Given the description of an element on the screen output the (x, y) to click on. 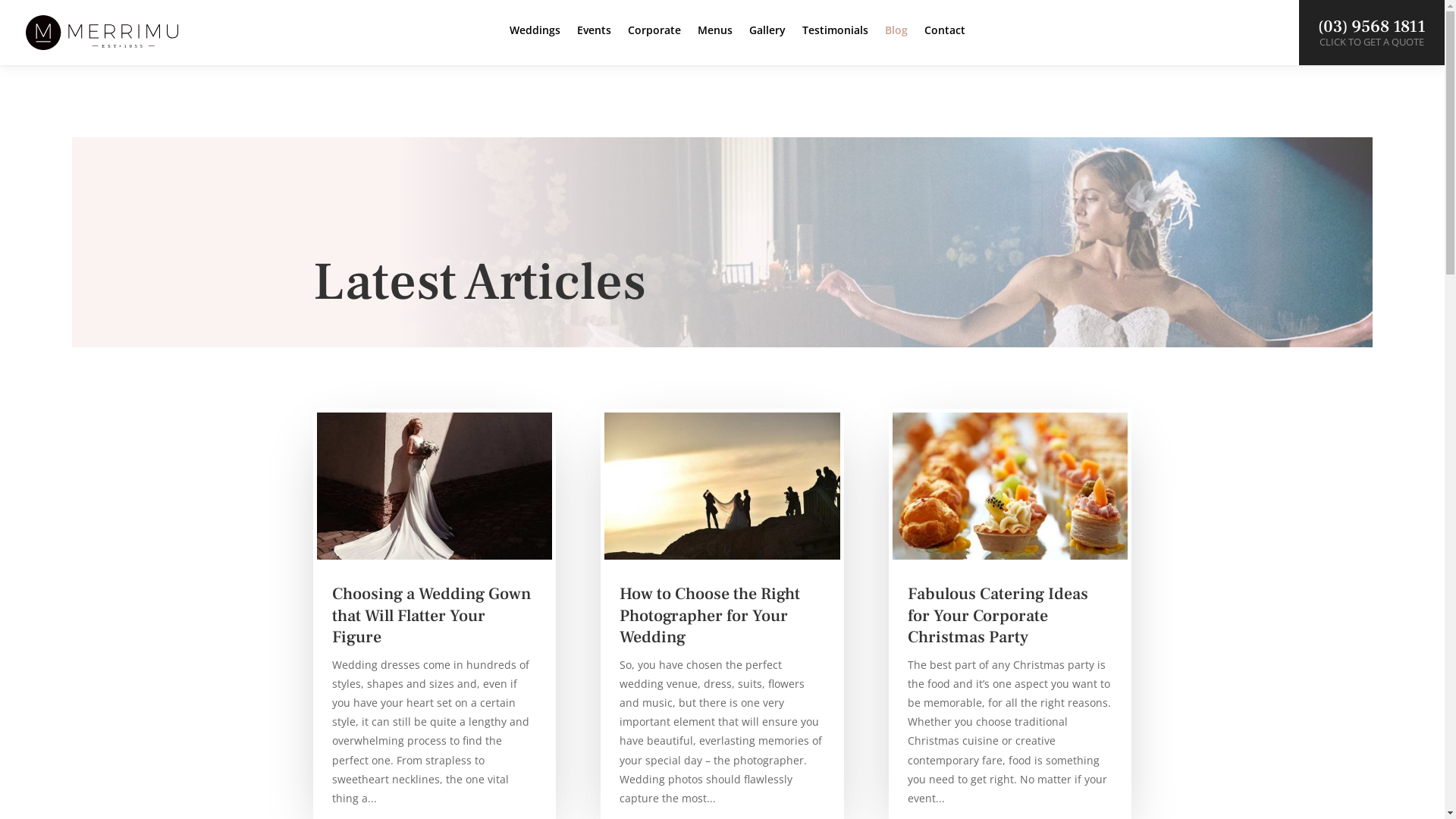
How to Choose the Right Photographer for Your Wedding Element type: text (709, 615)
Menus Element type: text (714, 42)
Corporate Element type: text (653, 42)
Gallery Element type: text (767, 42)
Blog Element type: text (895, 42)
(03) 9568 1811
CLICK TO GET A QUOTE Element type: text (1371, 32)
Fabulous Catering Ideas for Your Corporate Christmas Party Element type: text (997, 615)
Contact Element type: text (944, 42)
Testimonials Element type: text (835, 42)
Events Element type: text (594, 42)
Choosing a Wedding Gown that Will Flatter Your Figure Element type: text (431, 615)
Weddings Element type: text (534, 42)
